Given the description of an element on the screen output the (x, y) to click on. 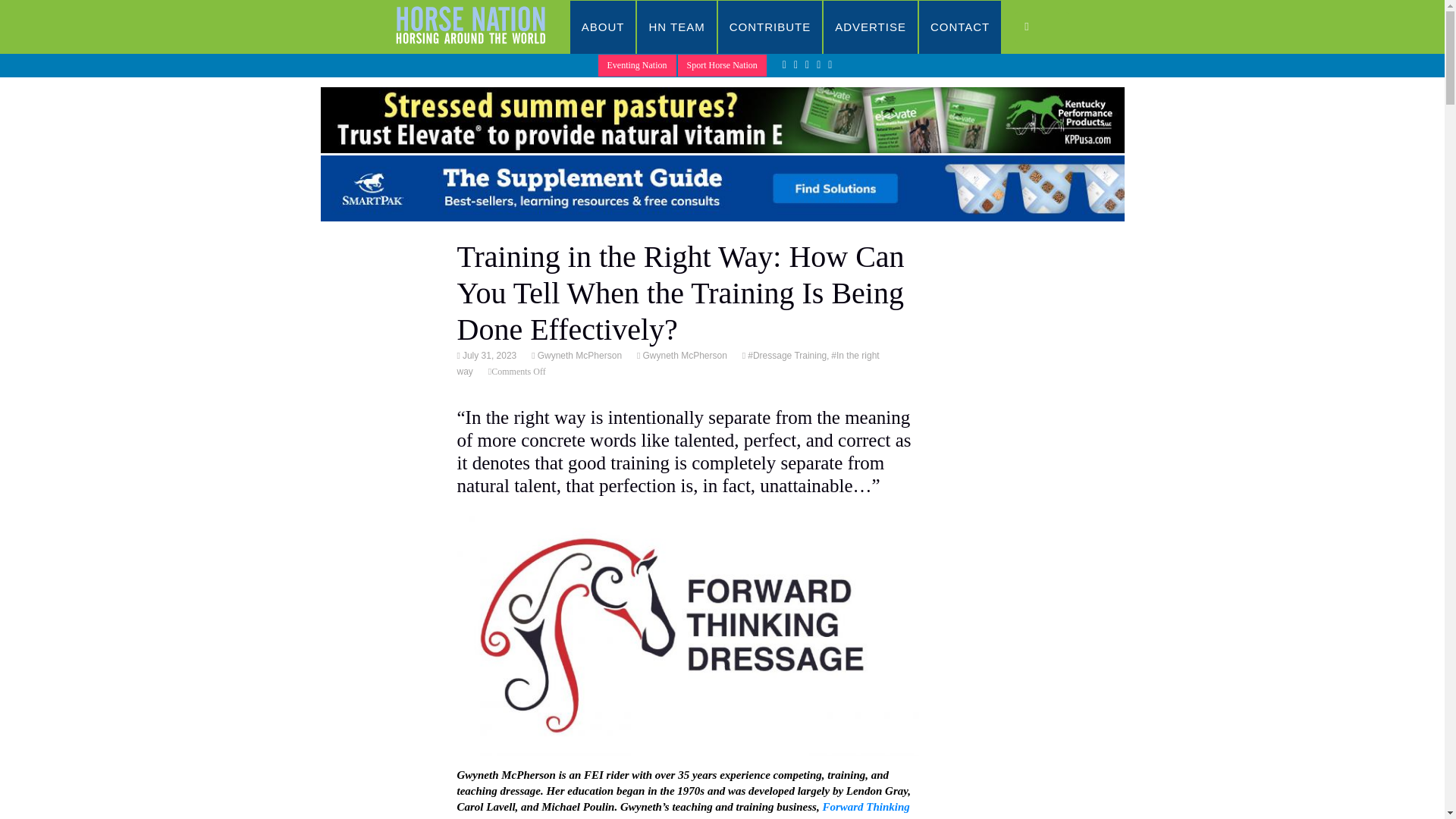
Eventing Nation (637, 65)
HN TEAM (676, 27)
ADVERTISE (870, 27)
Gwyneth McPherson (683, 355)
Gwyneth McPherson (578, 355)
ABOUT (603, 27)
July 31, 2023 (488, 355)
CONTACT (959, 27)
SEARCH (1041, 27)
